Given the description of an element on the screen output the (x, y) to click on. 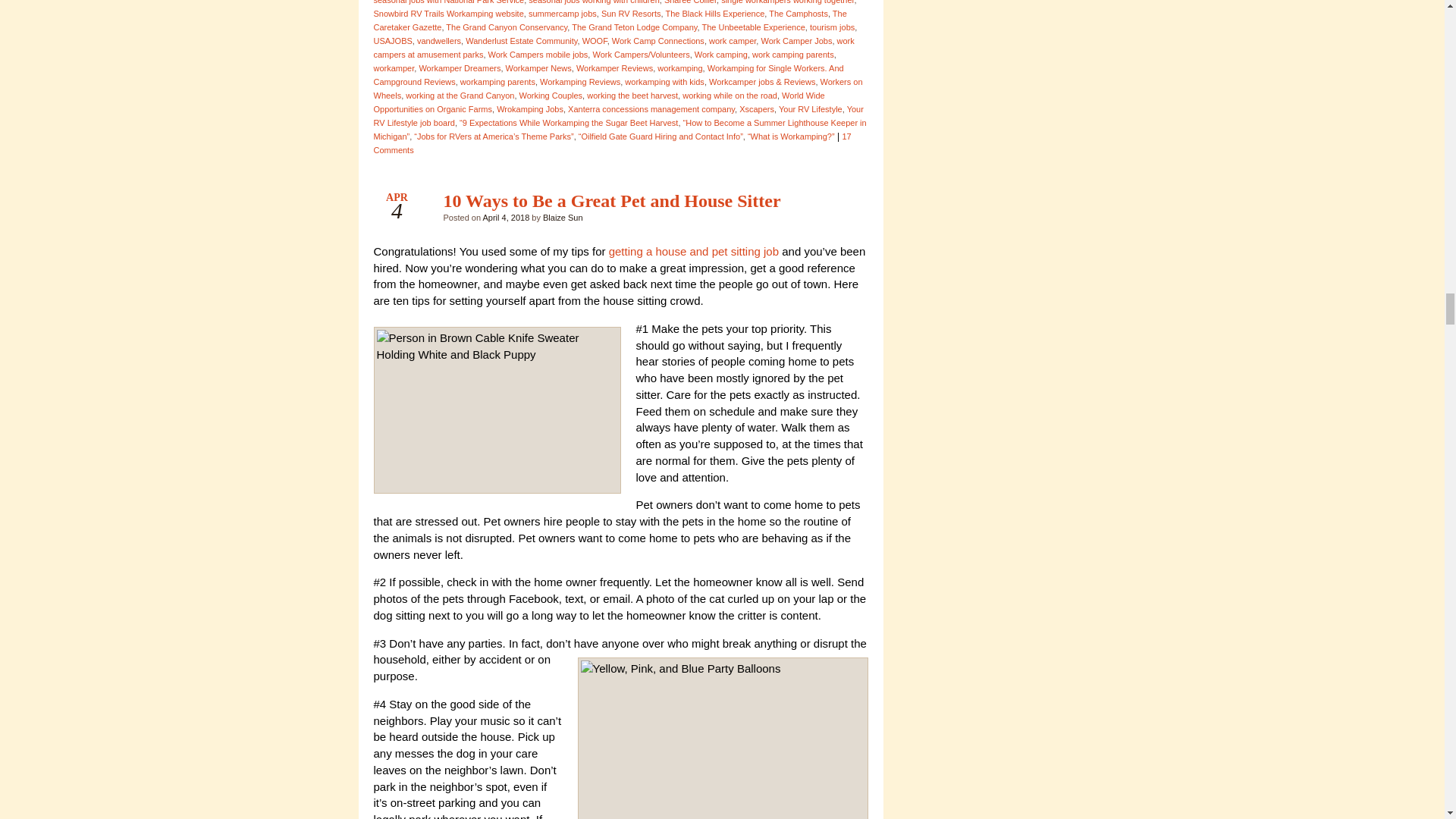
Permalink to 10 Ways to Be a Great Pet and House Sitter (611, 200)
12:35 pm (505, 216)
View all posts by Blaize Sun (563, 216)
All Standard posts (843, 204)
